Given the description of an element on the screen output the (x, y) to click on. 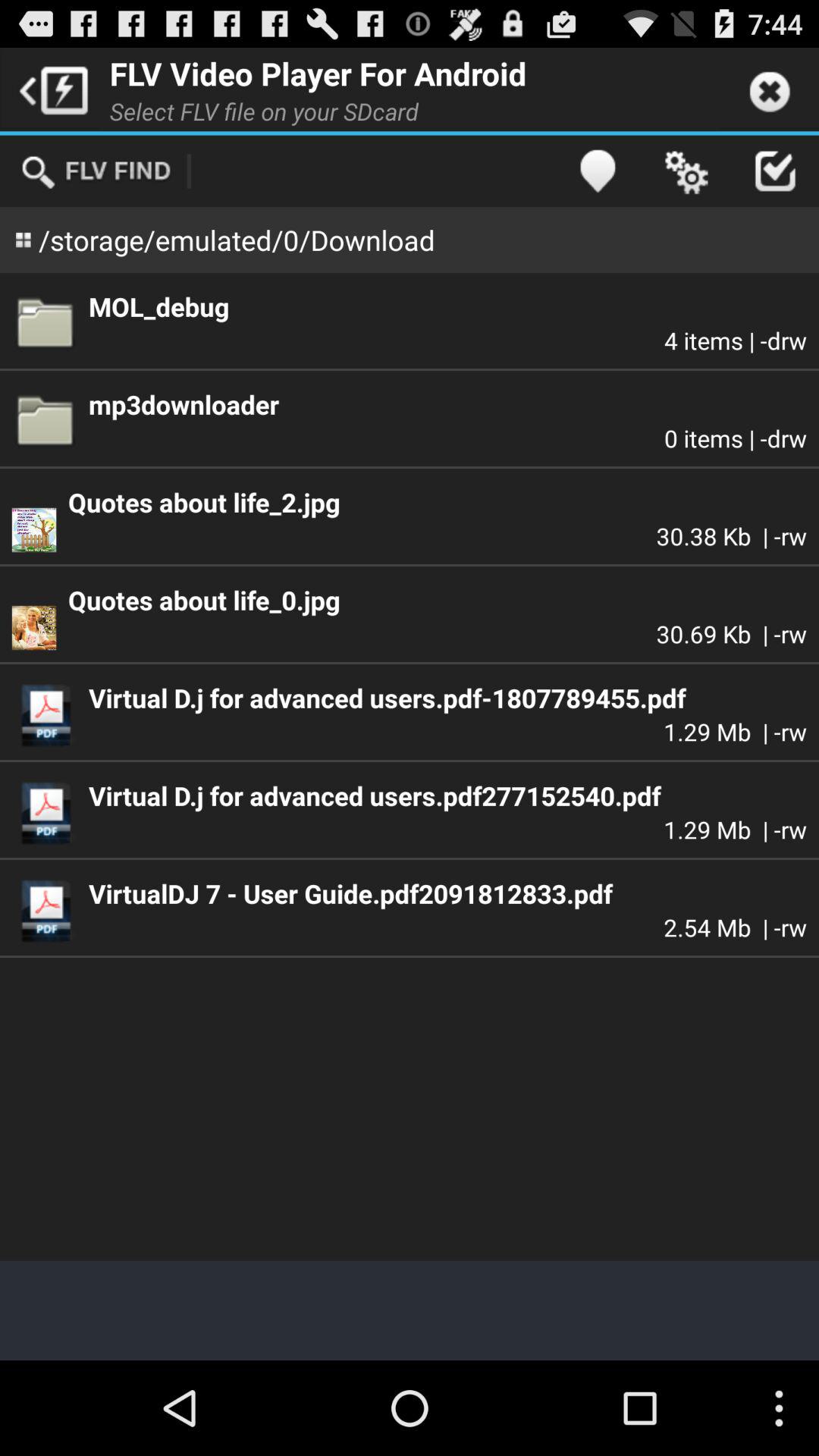
tap item below the 1 29 mb item (447, 893)
